Given the description of an element on the screen output the (x, y) to click on. 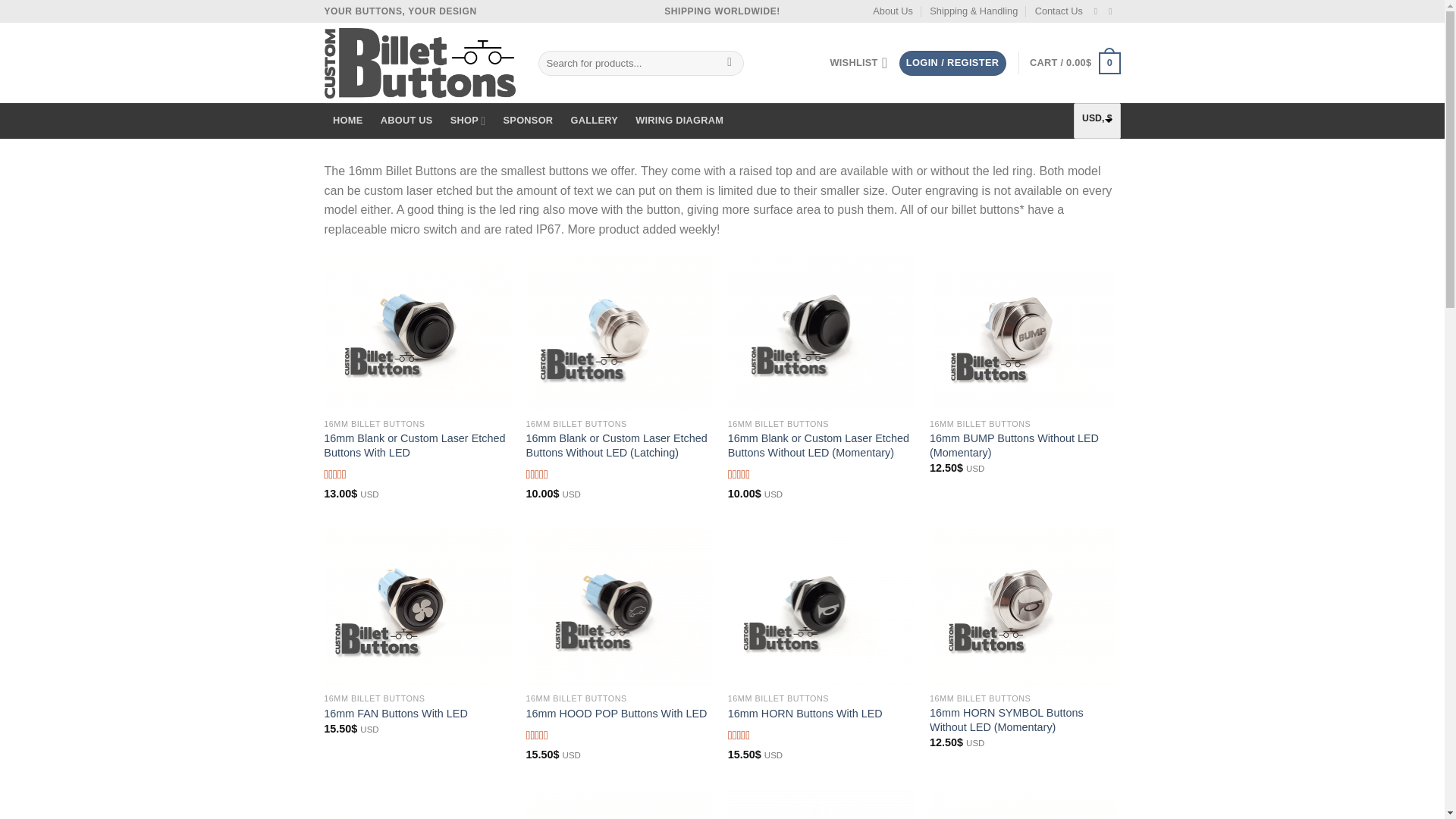
Cart (1074, 63)
Custom Billet Buttons - Designed. Etched. Delivered. (419, 62)
ABOUT US (406, 120)
Contact Us (1059, 11)
Login (952, 63)
WISHLIST (857, 62)
Search (729, 63)
GALLERY (594, 120)
About Us (892, 11)
SPONSOR (528, 120)
SHOP (468, 120)
Wishlist (857, 62)
HOME (348, 120)
WIRING DIAGRAM (679, 120)
